Given the description of an element on the screen output the (x, y) to click on. 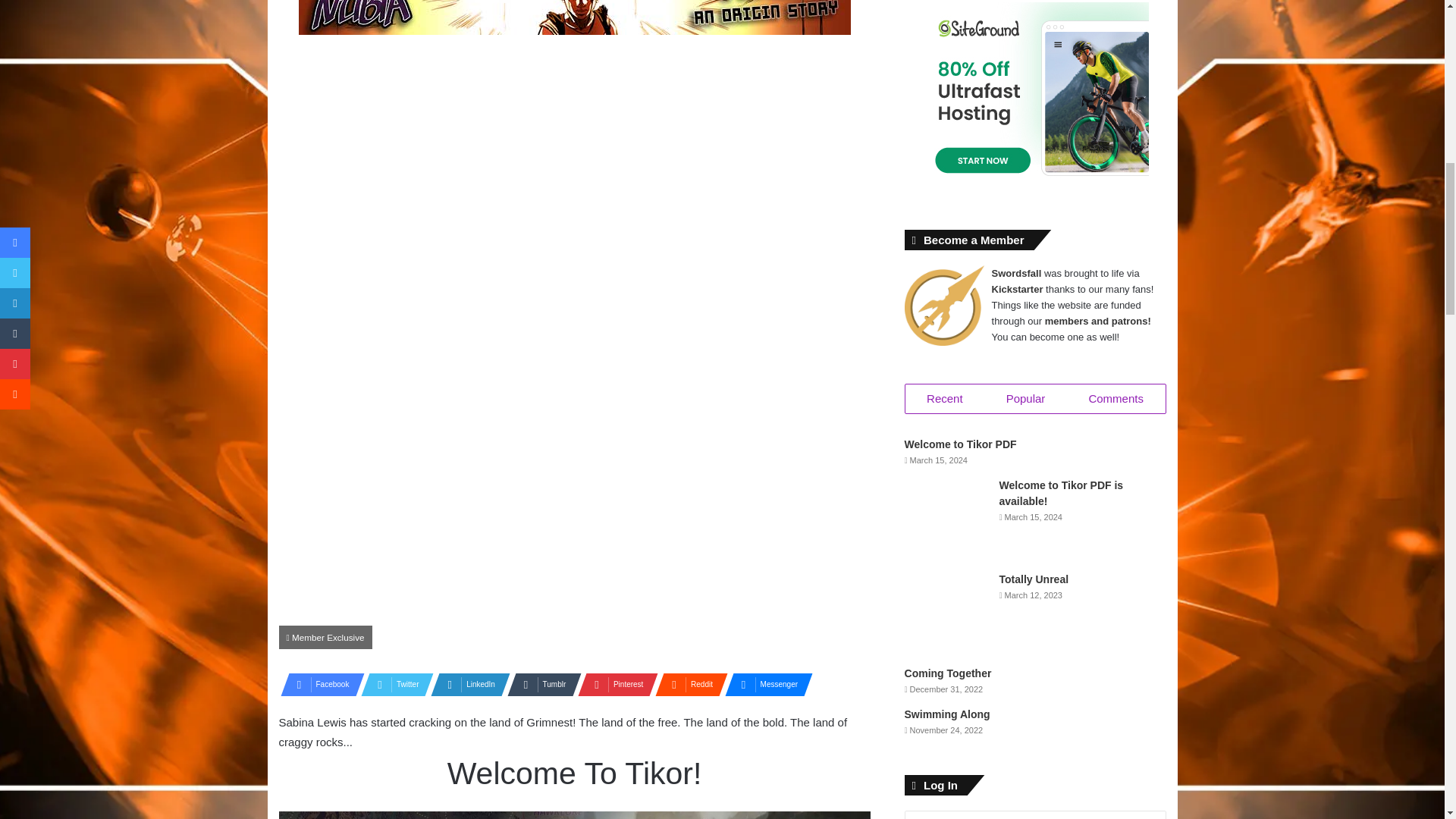
Reddit (687, 684)
Pinterest (613, 684)
LinkedIn (465, 684)
Twitter (393, 684)
Facebook (318, 684)
Tumblr (539, 684)
